Given the description of an element on the screen output the (x, y) to click on. 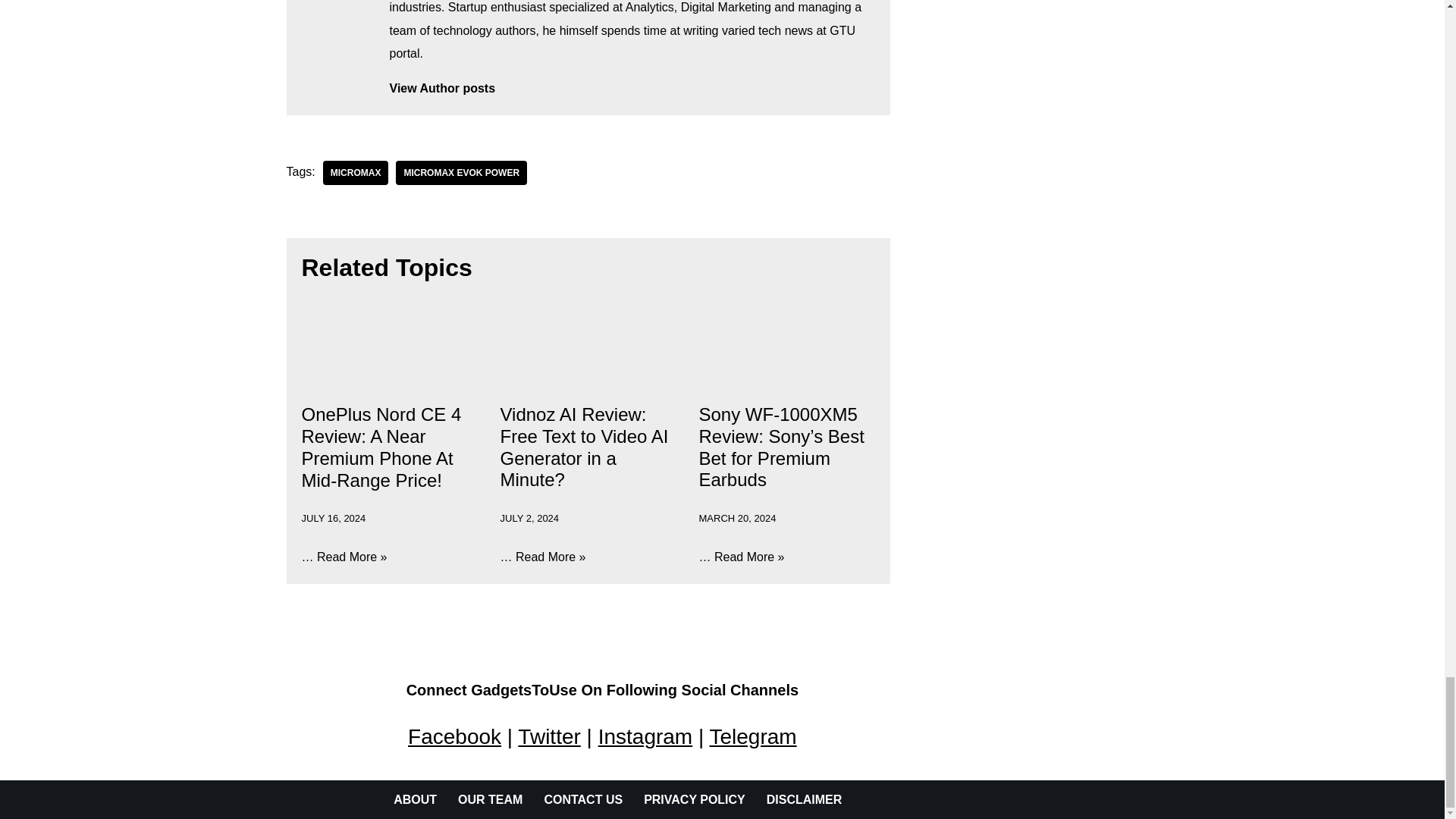
Micromax (355, 172)
View Author posts (632, 87)
MICROMAX (355, 172)
Micromax Evok Power (461, 172)
MICROMAX EVOK POWER (461, 172)
